Given the description of an element on the screen output the (x, y) to click on. 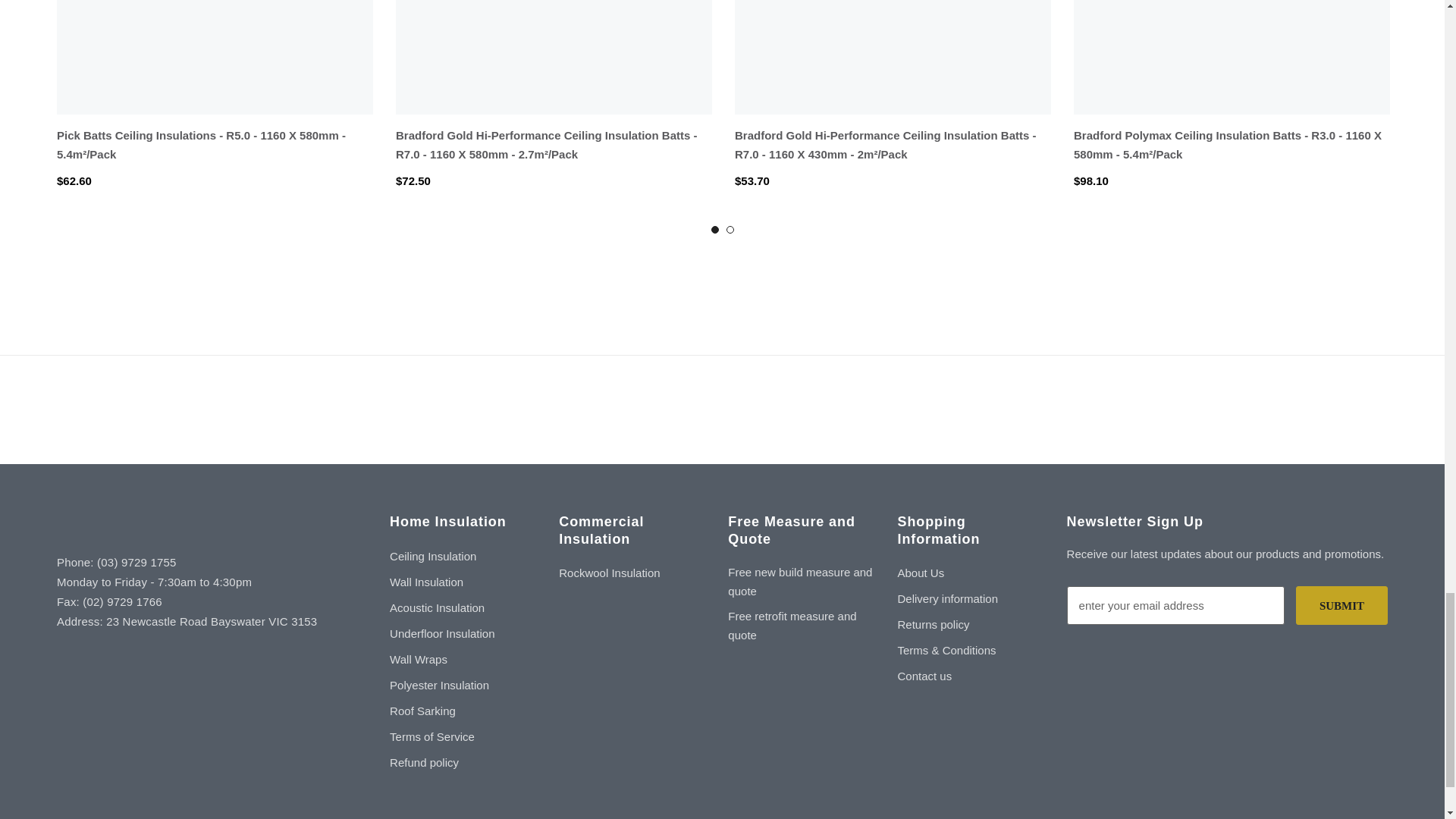
Submit (1341, 605)
